Given the description of an element on the screen output the (x, y) to click on. 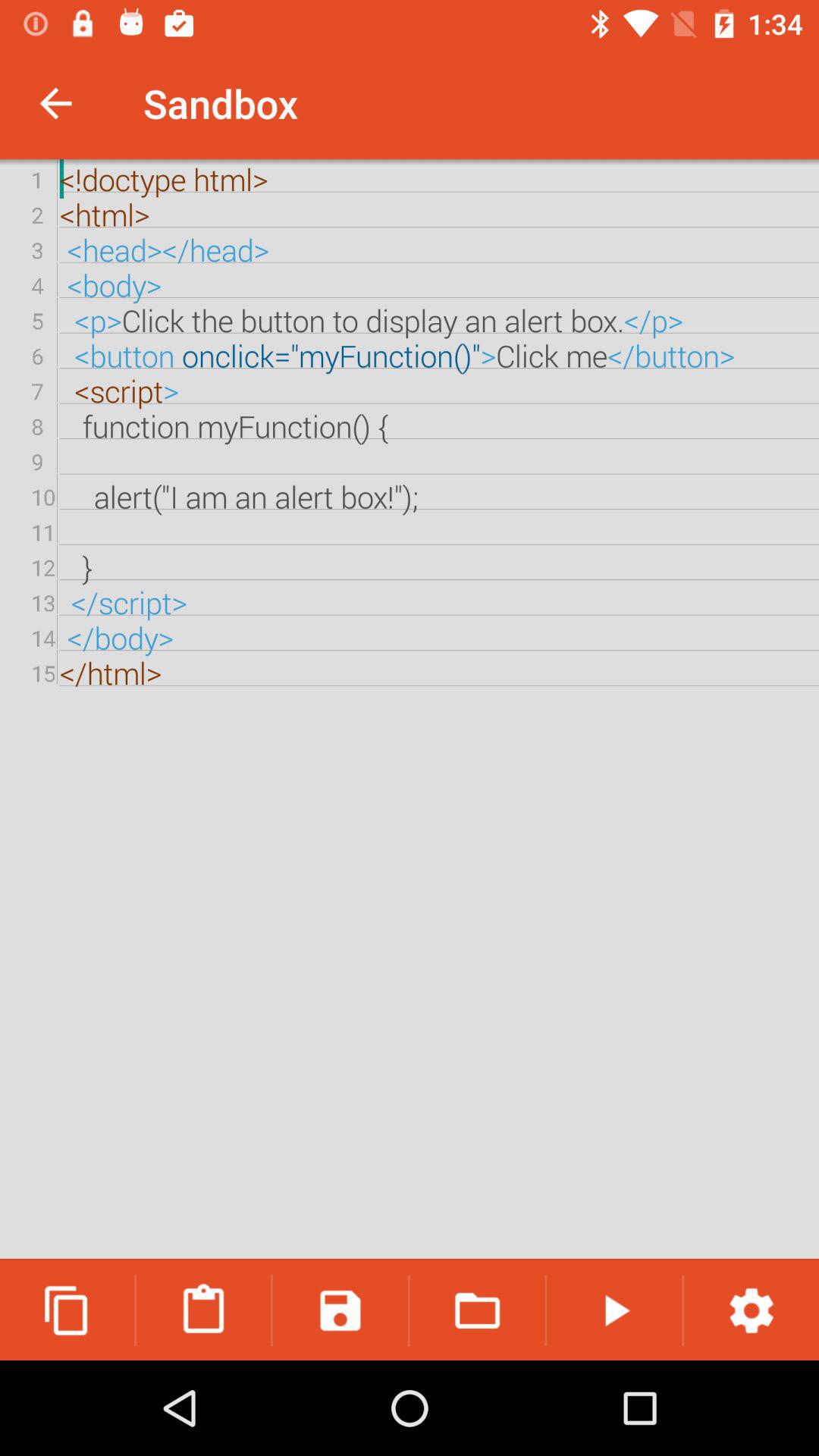
launch item to the left of the sandbox app (55, 103)
